Given the description of an element on the screen output the (x, y) to click on. 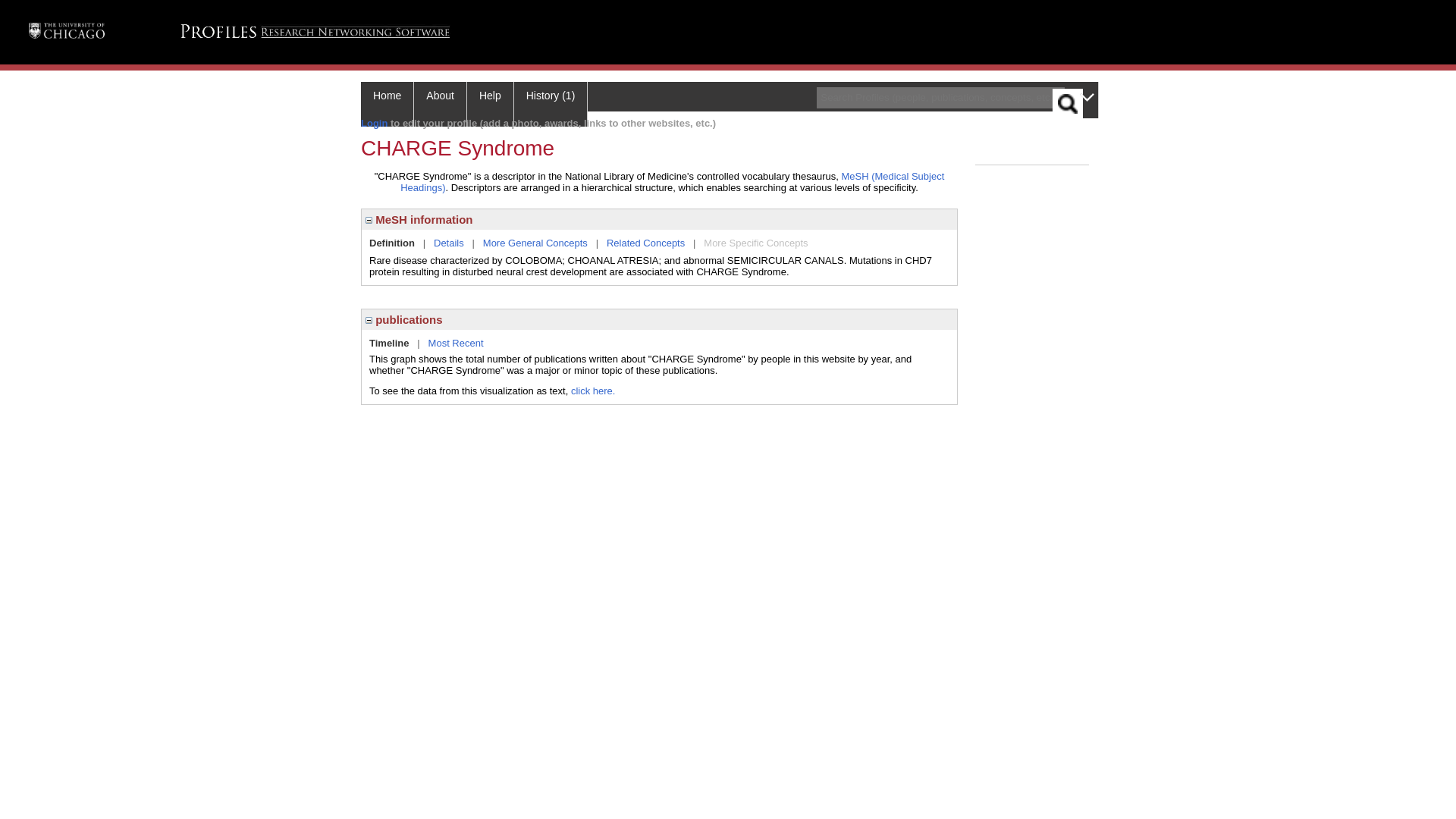
More Specific Concepts (755, 242)
Home (387, 103)
Details (448, 242)
Definition (391, 242)
Login (374, 122)
Related Concepts (645, 242)
About (440, 103)
Help (490, 103)
More General Concepts (535, 242)
